Given the description of an element on the screen output the (x, y) to click on. 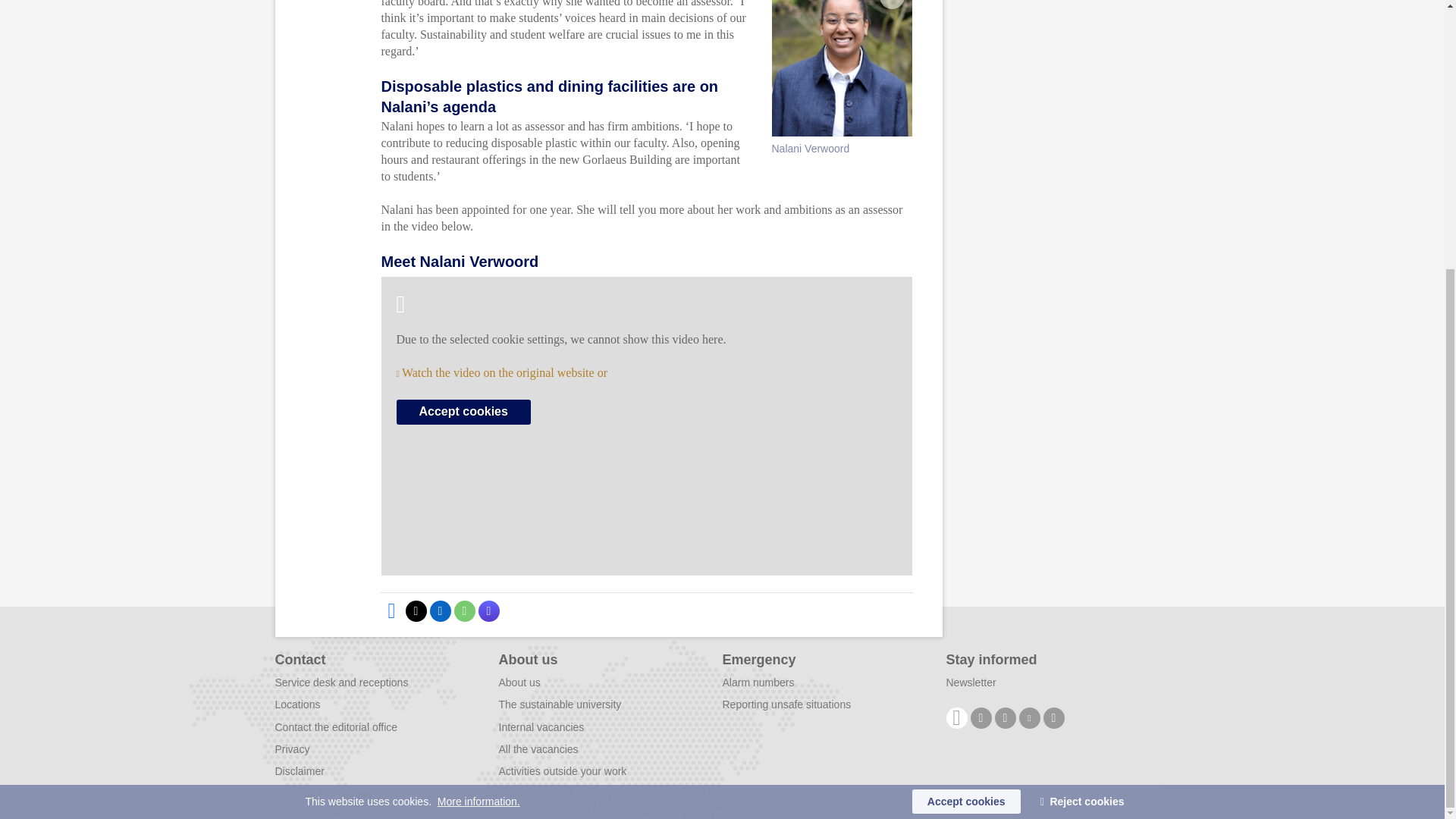
Share by Mastodon (488, 610)
Share on LinkedIn (439, 610)
Share on X (415, 610)
Share on Facebook (390, 610)
Share by WhatsApp (463, 610)
